Given the description of an element on the screen output the (x, y) to click on. 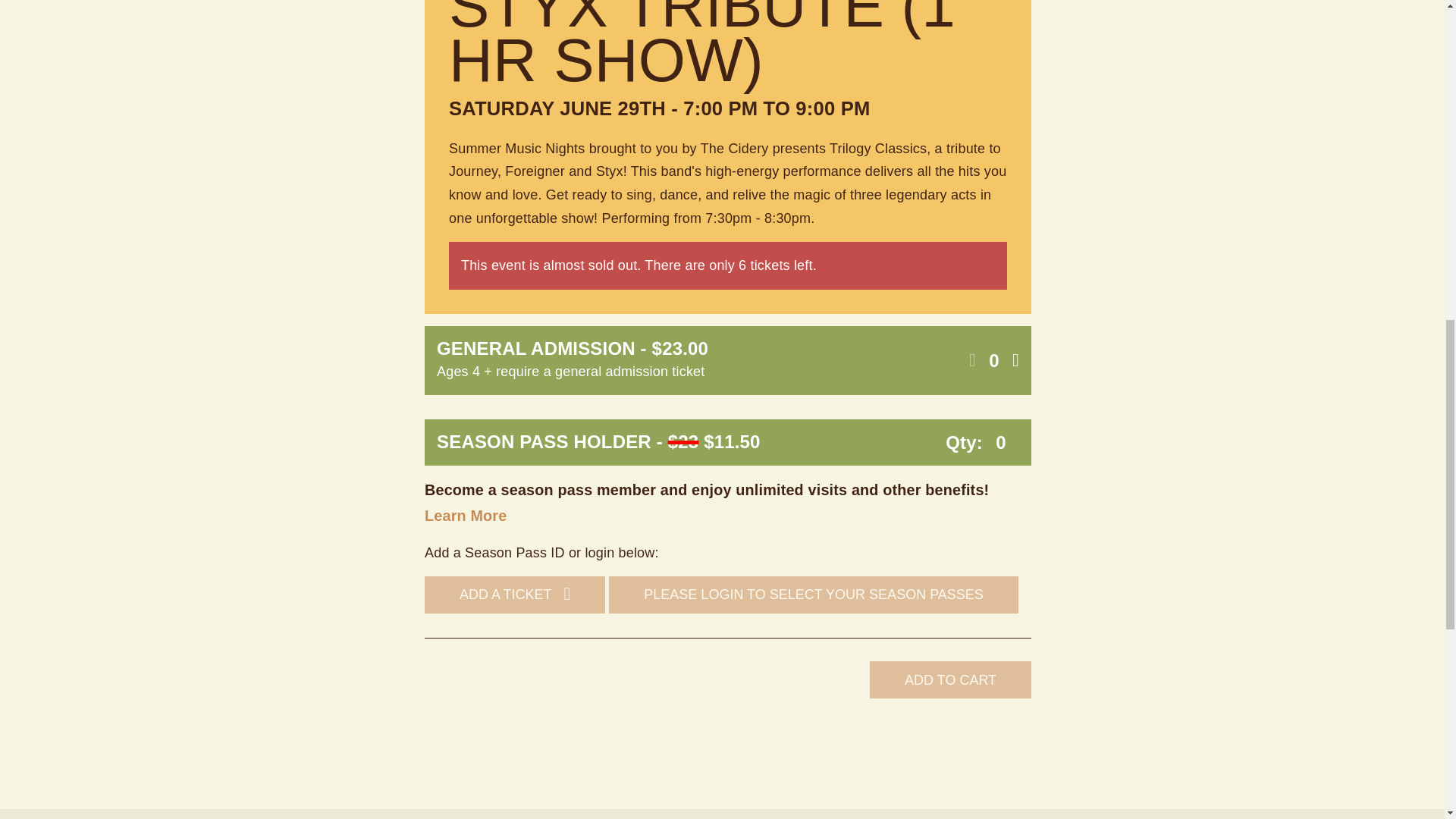
PLEASE LOGIN TO SELECT YOUR SEASON PASSES (812, 594)
Learn More (465, 515)
ADD TO CART (949, 679)
ADD A TICKET (515, 594)
